Given the description of an element on the screen output the (x, y) to click on. 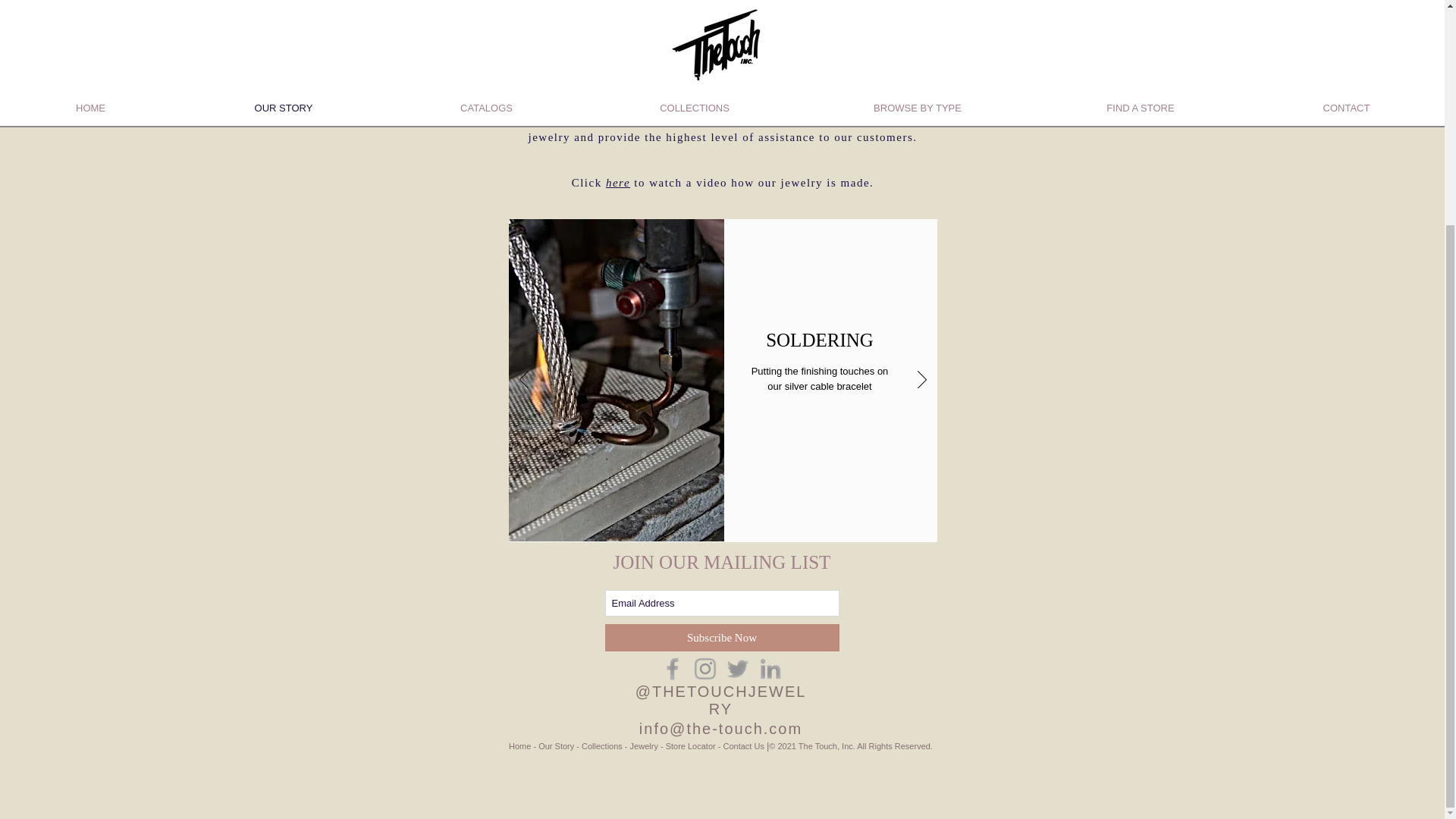
Click (588, 182)
Subscribe Now (722, 637)
here (617, 182)
